Given the description of an element on the screen output the (x, y) to click on. 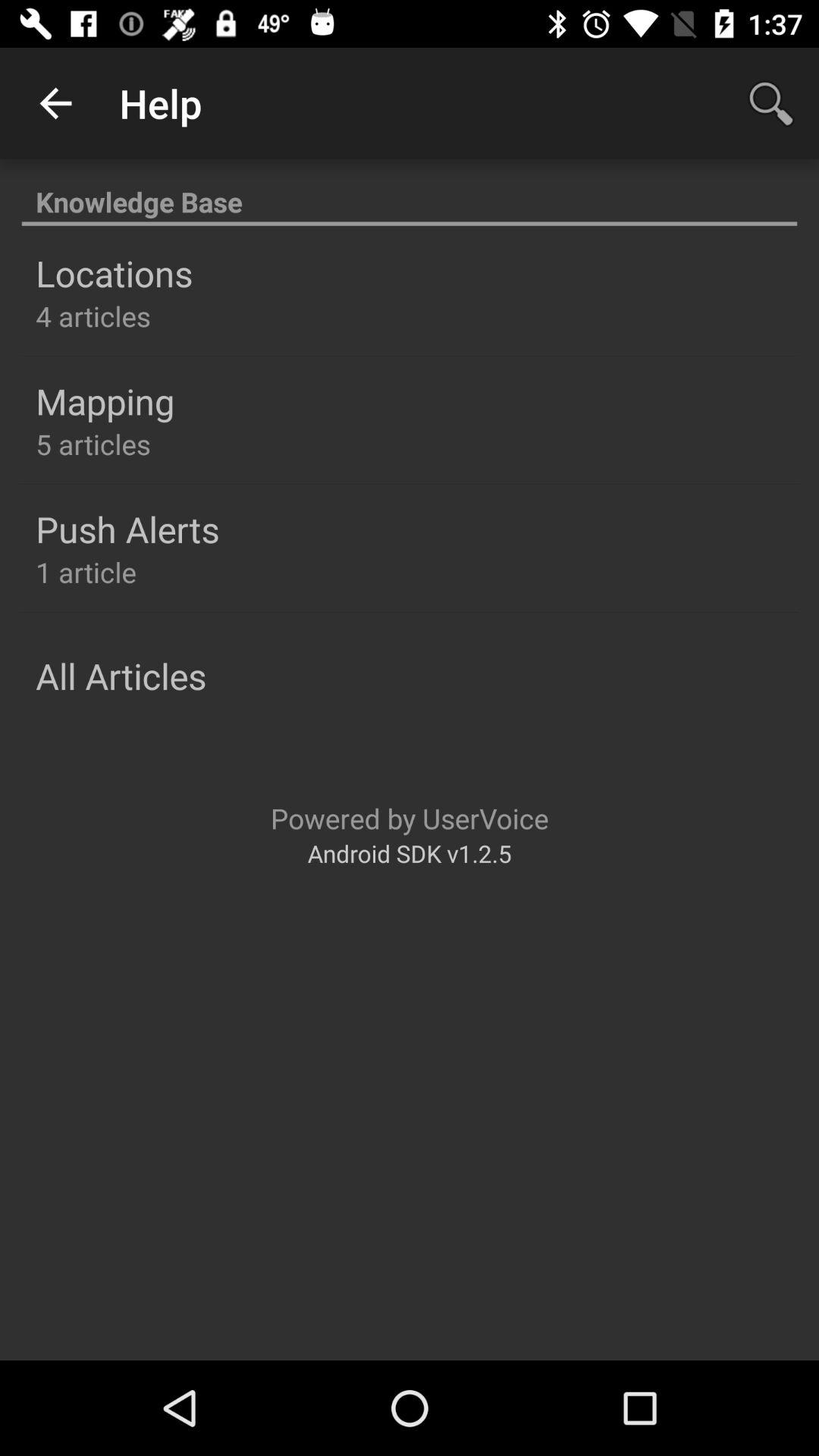
select the 5 articles (92, 443)
